Given the description of an element on the screen output the (x, y) to click on. 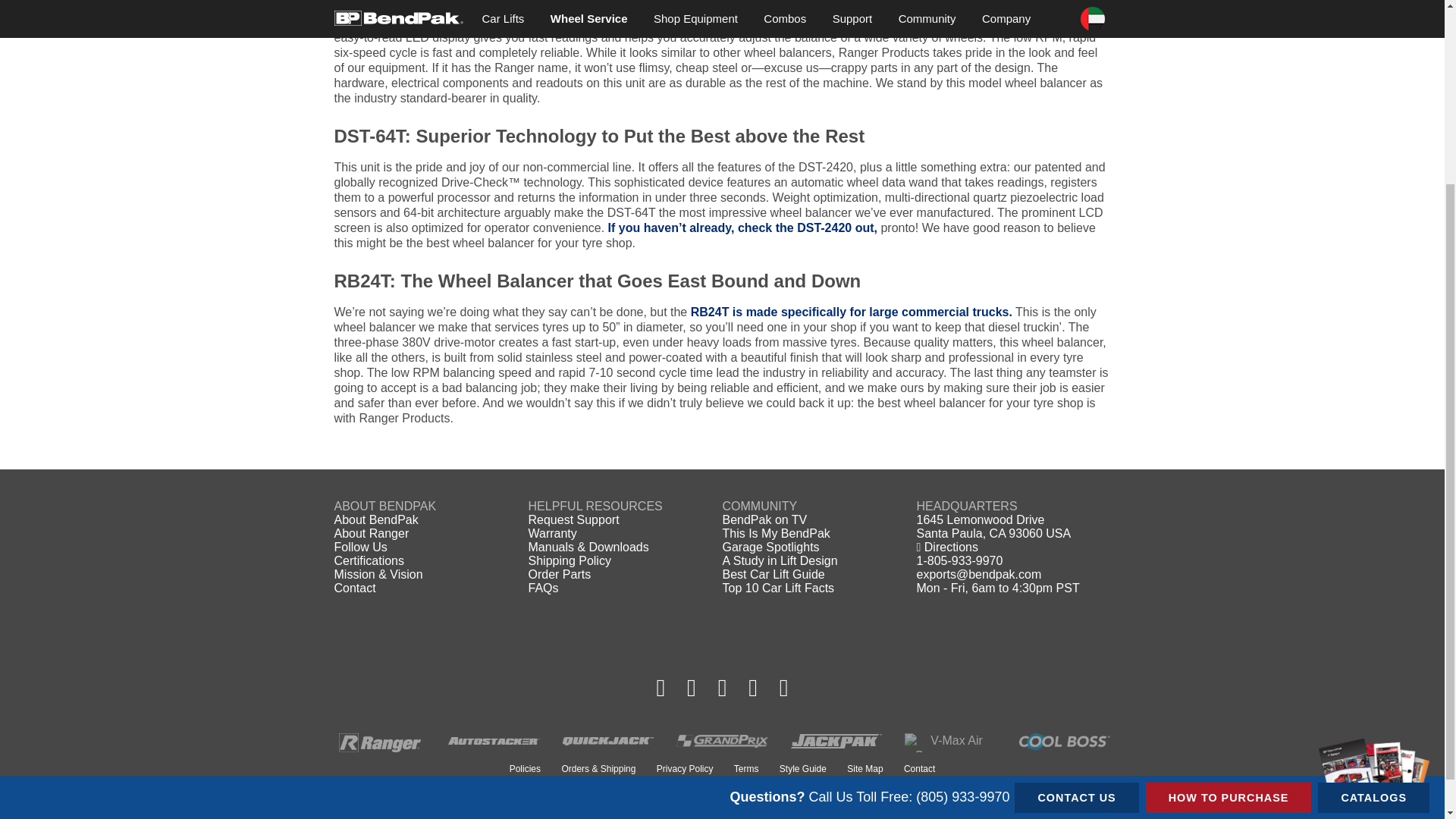
BendPak Blog (783, 687)
Follow BendPak on YouTube (753, 687)
Follow BendPak on Twitter (722, 687)
Follow BendPak on Facebook (660, 687)
Follow BendPak on Instagram (691, 687)
